Given the description of an element on the screen output the (x, y) to click on. 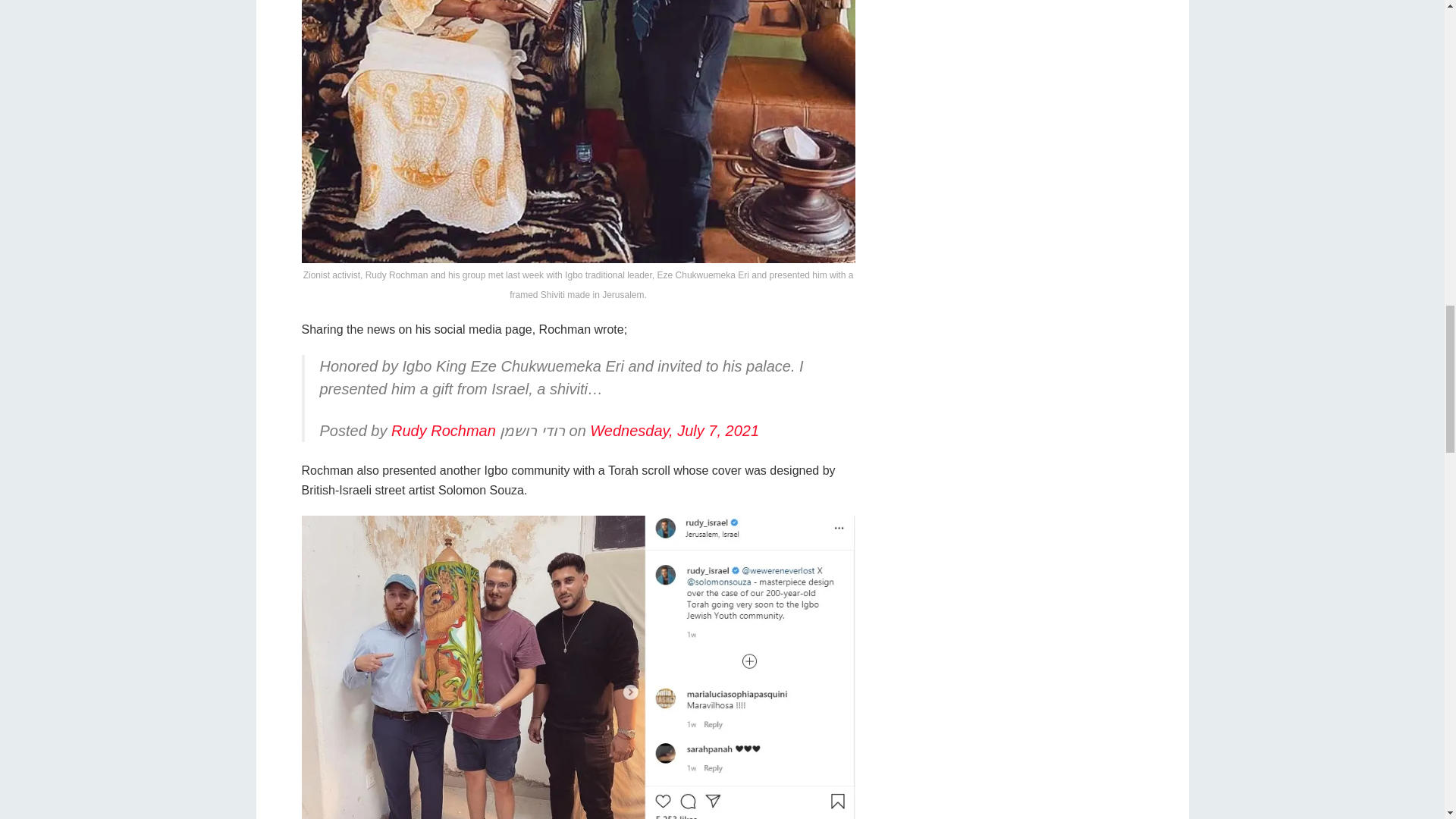
Rudy Rochman (443, 430)
